Given the description of an element on the screen output the (x, y) to click on. 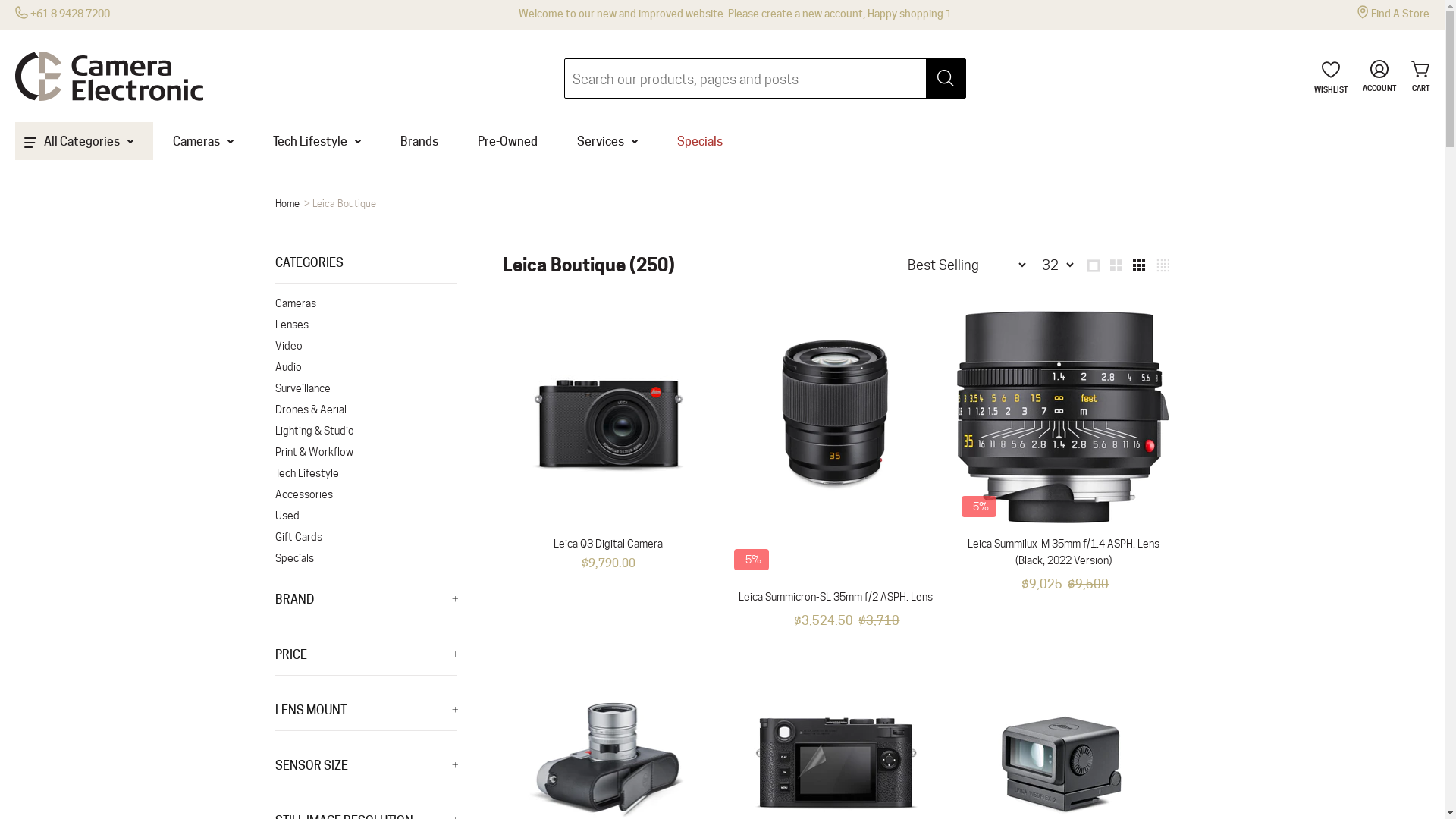
Surveillance Element type: text (365, 387)
Lenses Element type: text (365, 324)
WISHLIST Element type: text (1330, 78)
CART Element type: text (1417, 76)
Brands Element type: text (419, 141)
Leica Q3 Digital Camera Element type: text (607, 543)
Cameras Element type: text (365, 302)
Specials Element type: text (365, 555)
Leica Summicron-SL 35mm f/2 ASPH. Lens Element type: text (835, 596)
-5% Element type: text (835, 443)
-5% Element type: text (1063, 416)
Gift Cards Element type: text (365, 536)
ACCOUNT Element type: text (1379, 76)
Audio Element type: text (365, 366)
Cameras Element type: text (203, 141)
Pre-Owned Element type: text (507, 141)
Tech Lifestyle Element type: text (365, 472)
+61 8 9428 7200 Element type: text (62, 13)
Used Element type: text (365, 515)
Home Element type: text (286, 203)
Tech Lifestyle Element type: text (316, 141)
Print & Workflow Element type: text (365, 451)
Specials Element type: text (699, 141)
Drones & Aerial Element type: text (365, 409)
Services Element type: text (607, 141)
All Categories Element type: text (84, 141)
Leica Summilux-M 35mm f/1.4 ASPH. Lens (Black, 2022 Version) Element type: text (1063, 551)
Accessories Element type: text (365, 494)
Find A Store Element type: text (1393, 13)
Video Element type: text (365, 345)
Lighting & Studio Element type: text (365, 430)
